Given the description of an element on the screen output the (x, y) to click on. 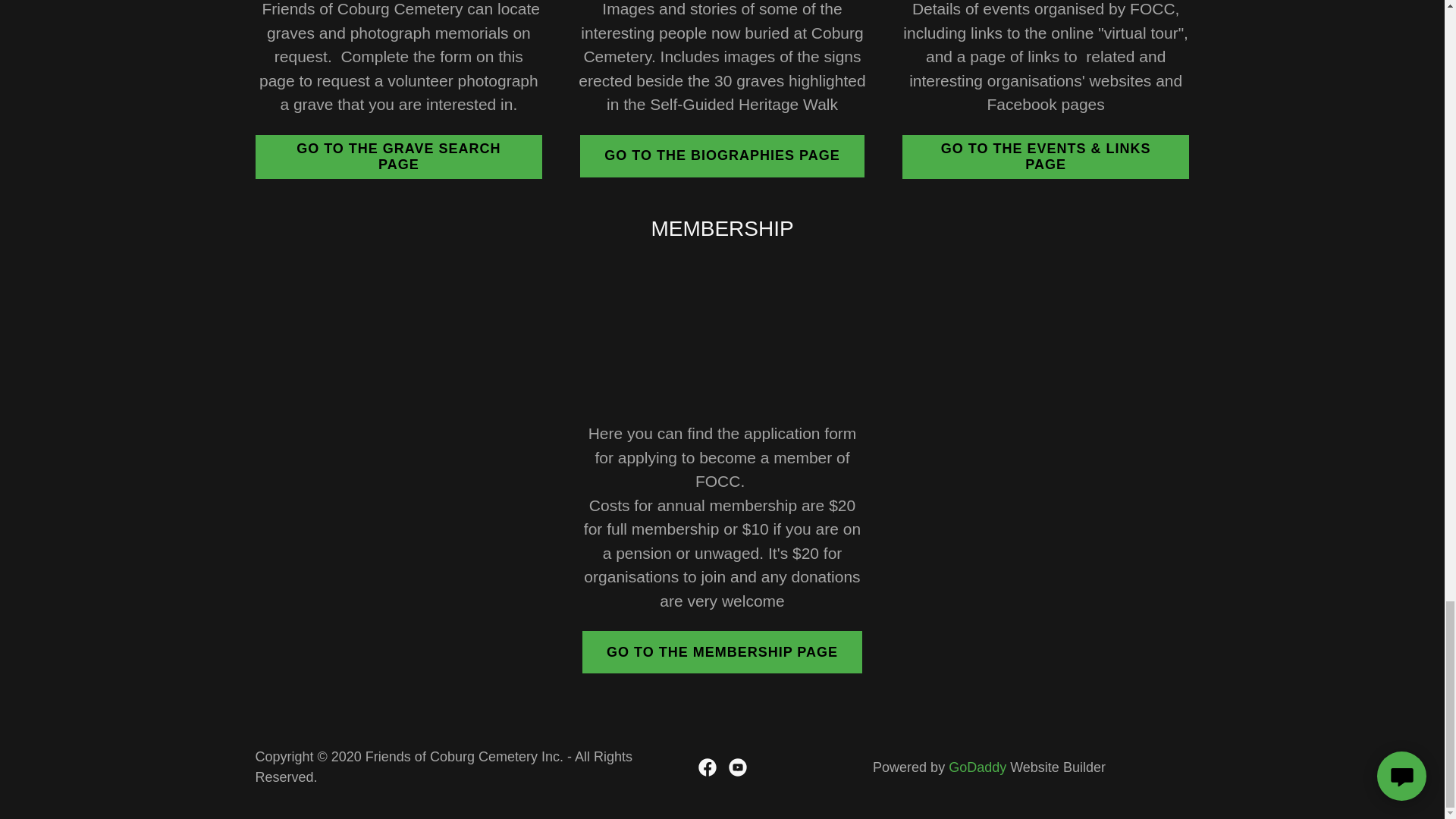
GoDaddy (977, 767)
GO TO THE GRAVE SEARCH PAGE (399, 157)
GO TO THE MEMBERSHIP PAGE (721, 651)
GO TO THE BIOGRAPHIES PAGE (721, 156)
